Given the description of an element on the screen output the (x, y) to click on. 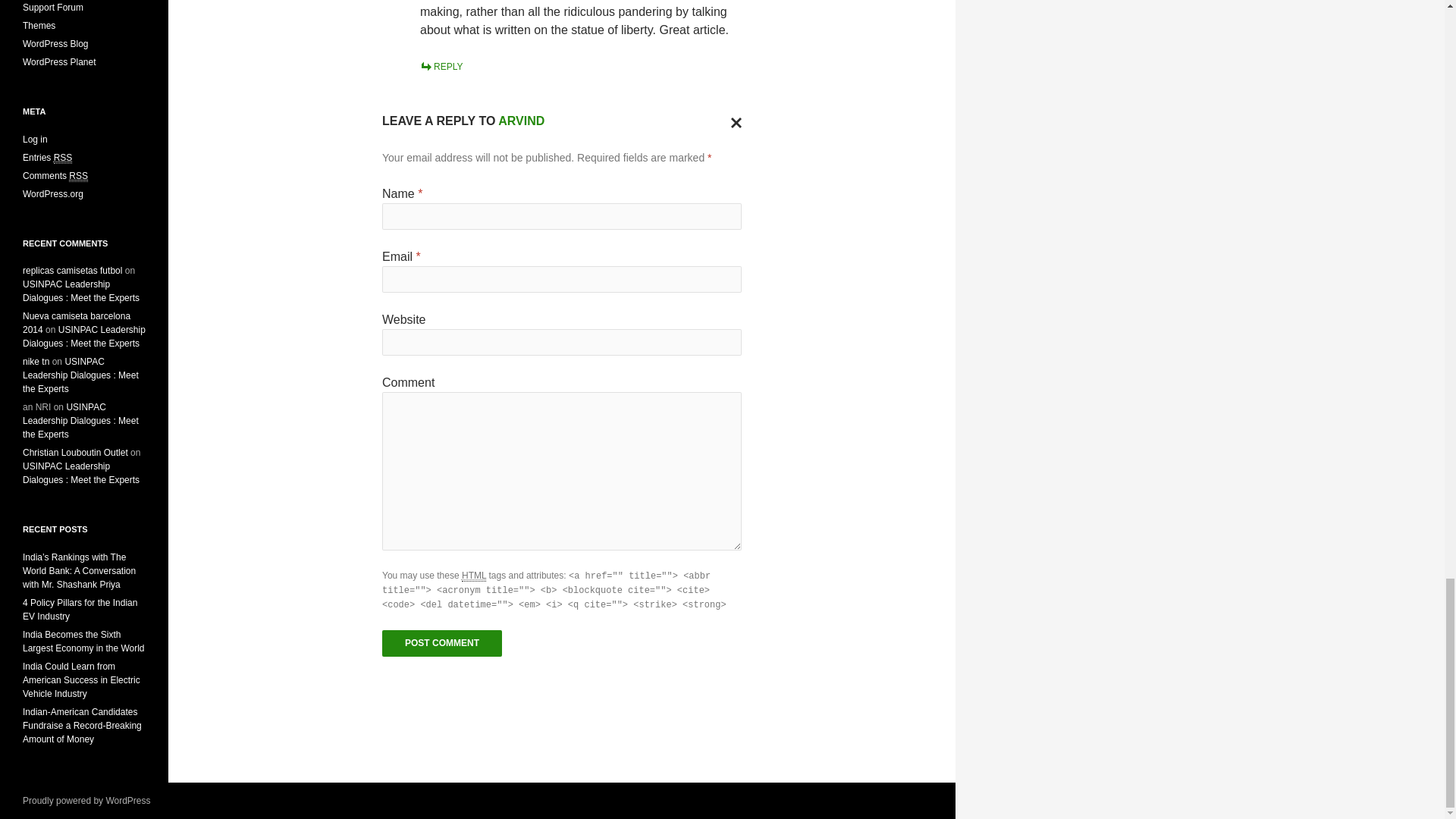
Post Comment (441, 642)
REPLY (441, 66)
CANCEL REPLY (732, 121)
ARVIND (520, 120)
Post Comment (441, 642)
HyperText Markup Language (473, 575)
